Given the description of an element on the screen output the (x, y) to click on. 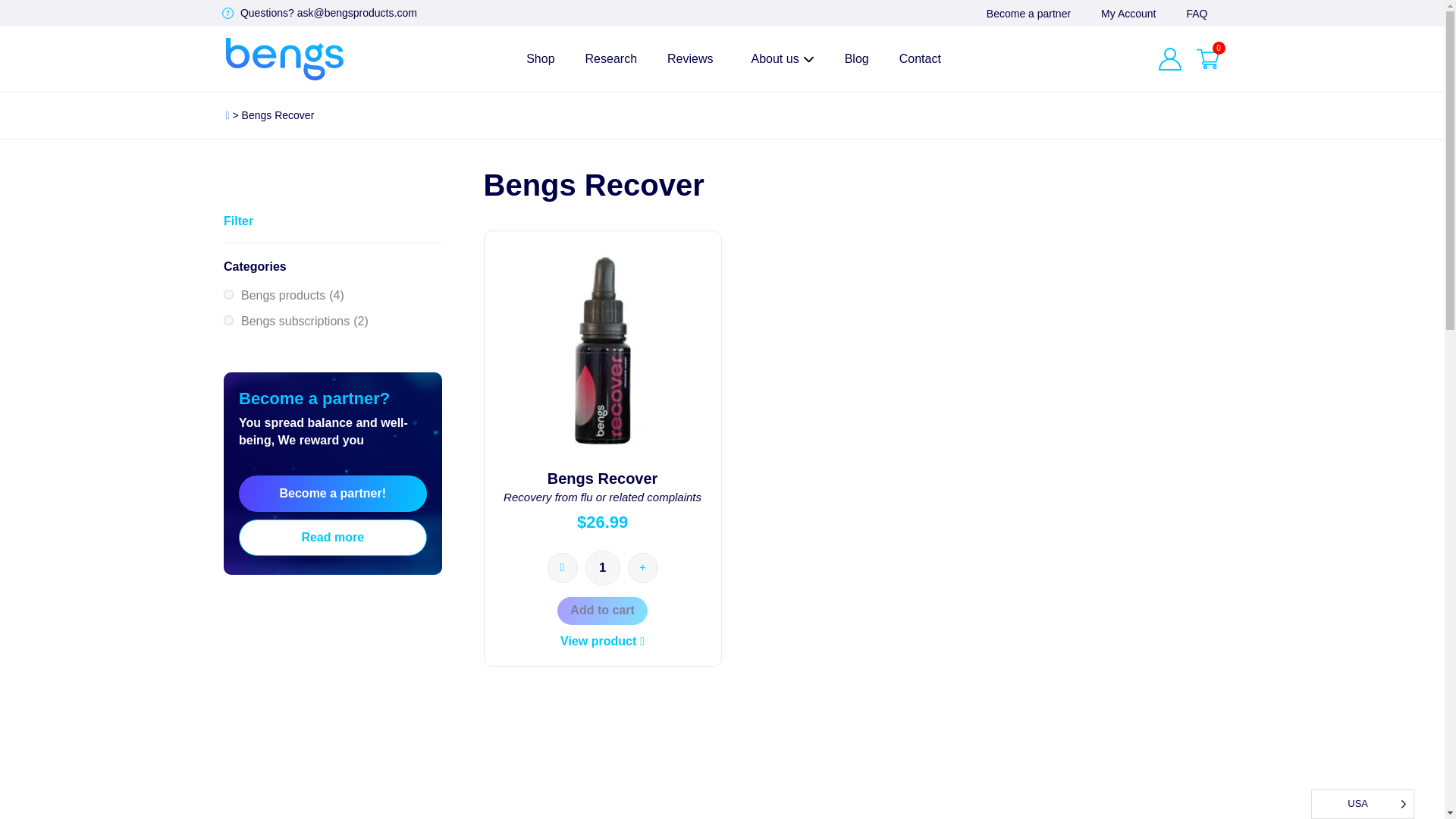
Reviews (689, 58)
My Account (1128, 13)
Research (611, 58)
Become a partner! (332, 493)
Shop (539, 58)
1 (602, 567)
- (562, 567)
FAQ (1196, 13)
About us (777, 58)
Bengs USA (284, 58)
